Given the description of an element on the screen output the (x, y) to click on. 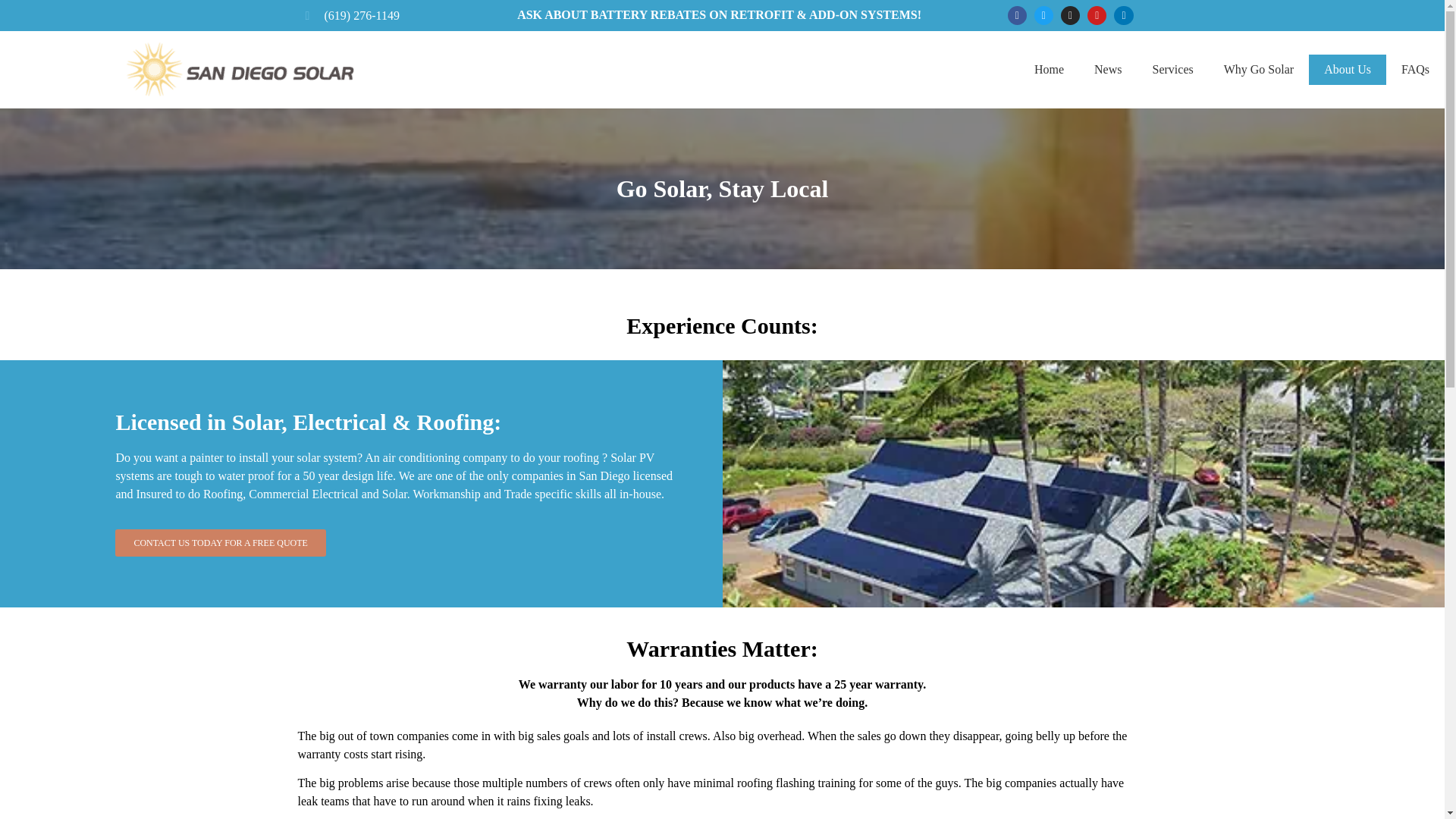
Services (1172, 69)
About Us (1347, 69)
CONTACT US TODAY FOR A FREE QUOTE (220, 542)
Home (1048, 69)
News (1107, 69)
Why Go Solar (1258, 69)
